Given the description of an element on the screen output the (x, y) to click on. 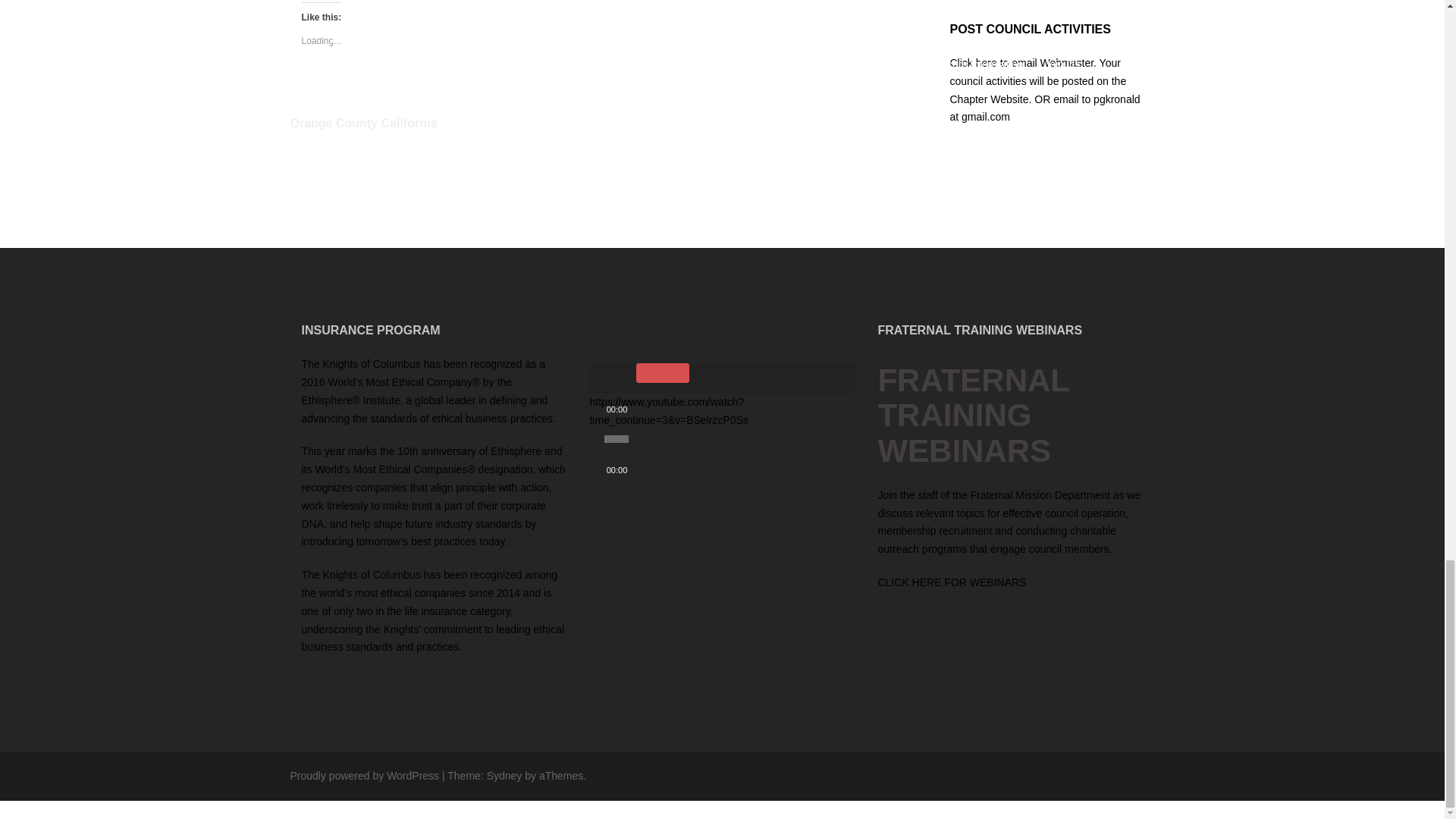
Play (608, 378)
Fullscreen (672, 378)
Mute (662, 373)
